Given the description of an element on the screen output the (x, y) to click on. 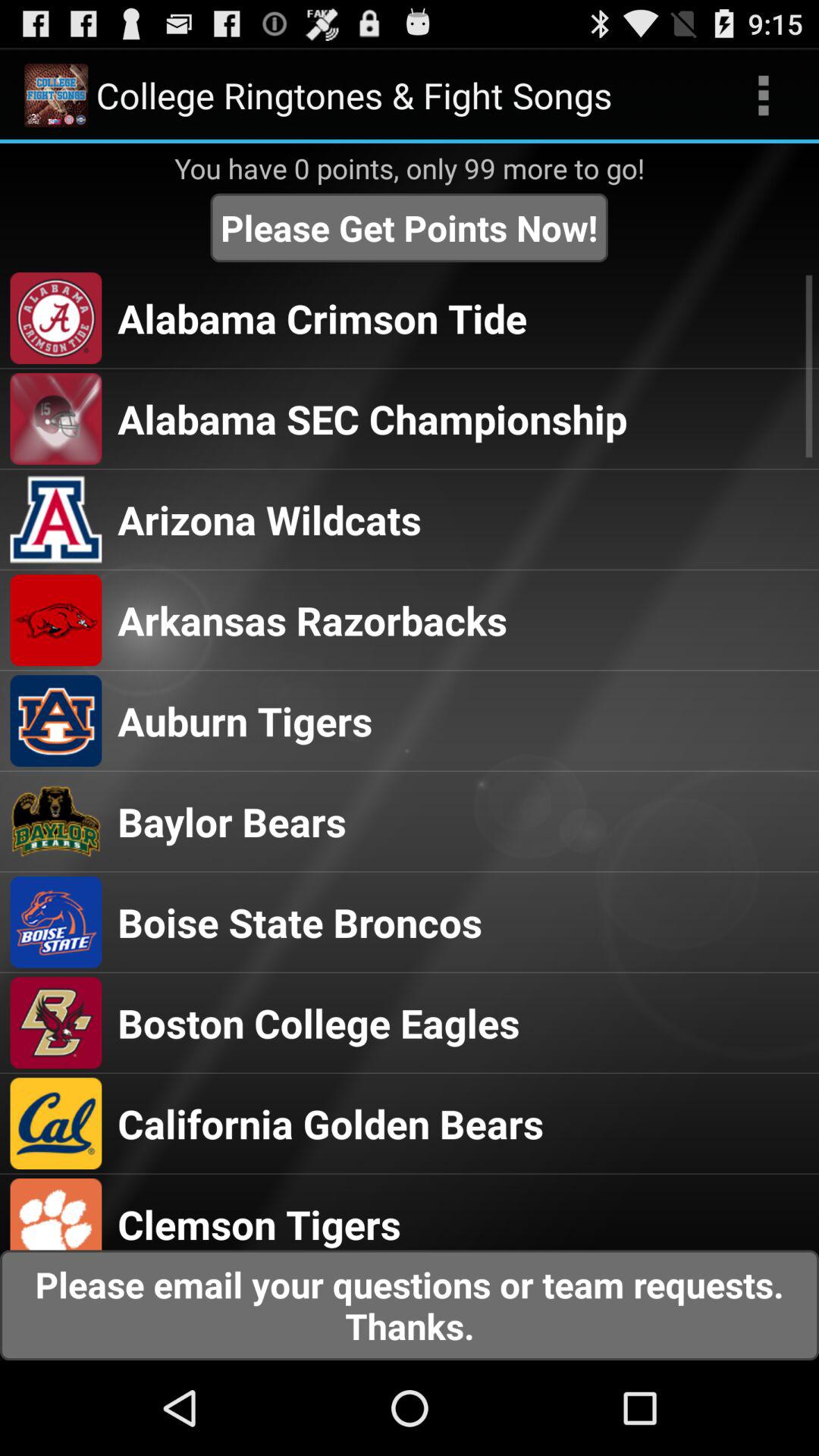
click item above you have 0 item (763, 95)
